Given the description of an element on the screen output the (x, y) to click on. 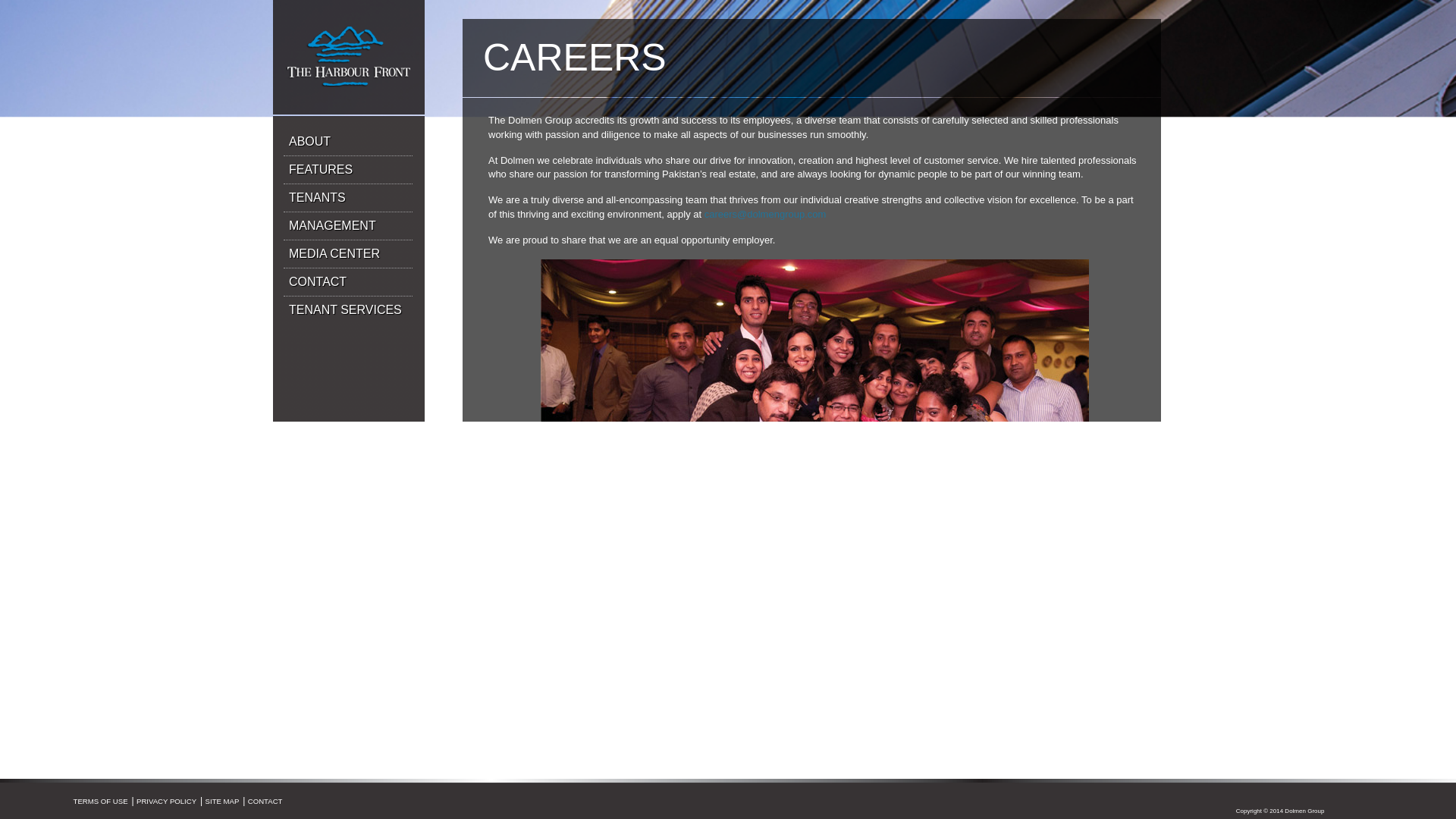
FEATURES (347, 170)
MEDIA CENTER (347, 254)
ABOUT (347, 141)
CONTACT (347, 282)
TENANTS (347, 198)
MANAGEMENT (347, 226)
TENANT SERVICES (347, 309)
Skip to content (381, 132)
Skip to content (381, 132)
